Given the description of an element on the screen output the (x, y) to click on. 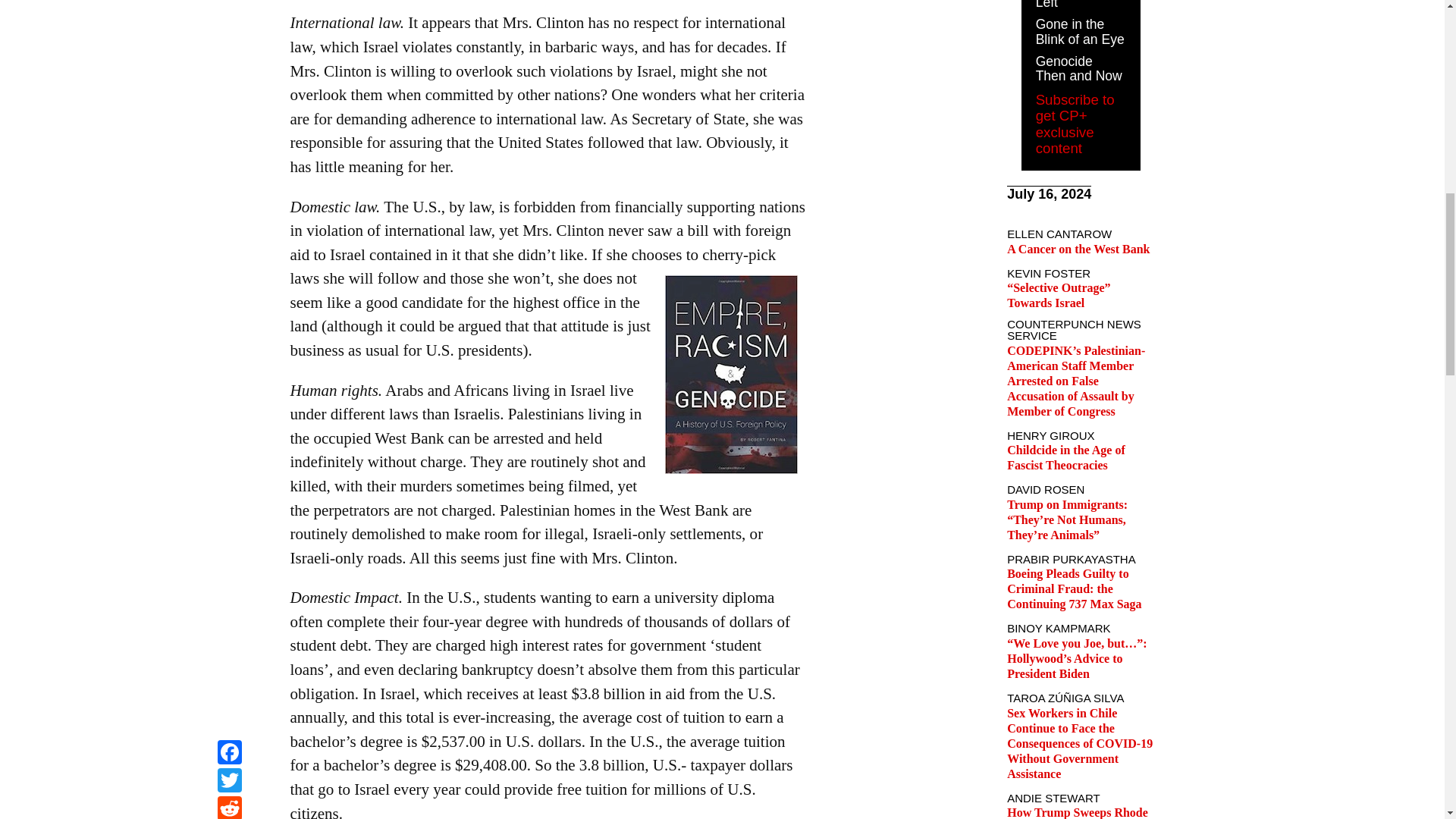
Email (229, 18)
Reddit (229, 2)
Email (229, 18)
Genocide Then and Now (1078, 69)
The Molting of the Dirtbag Left (1077, 4)
Reddit (229, 2)
Gone in the Blink of an Eye (1079, 31)
A Cancer on the West Bank (1078, 248)
